Given the description of an element on the screen output the (x, y) to click on. 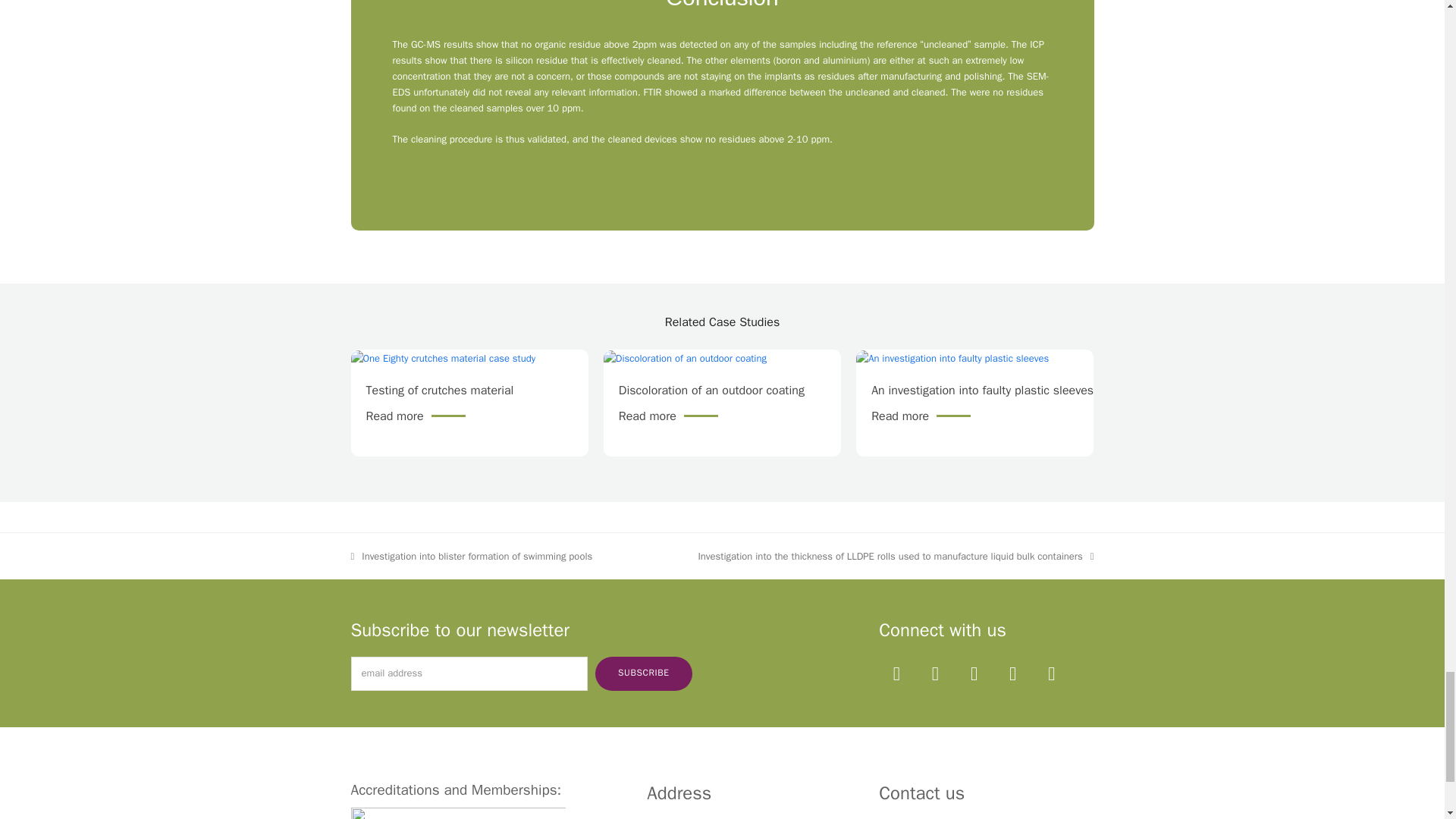
LinkedIn (1012, 673)
Facebook (934, 673)
Twitter (896, 673)
Whatsapp (1050, 673)
Youtube (973, 673)
